Given the description of an element on the screen output the (x, y) to click on. 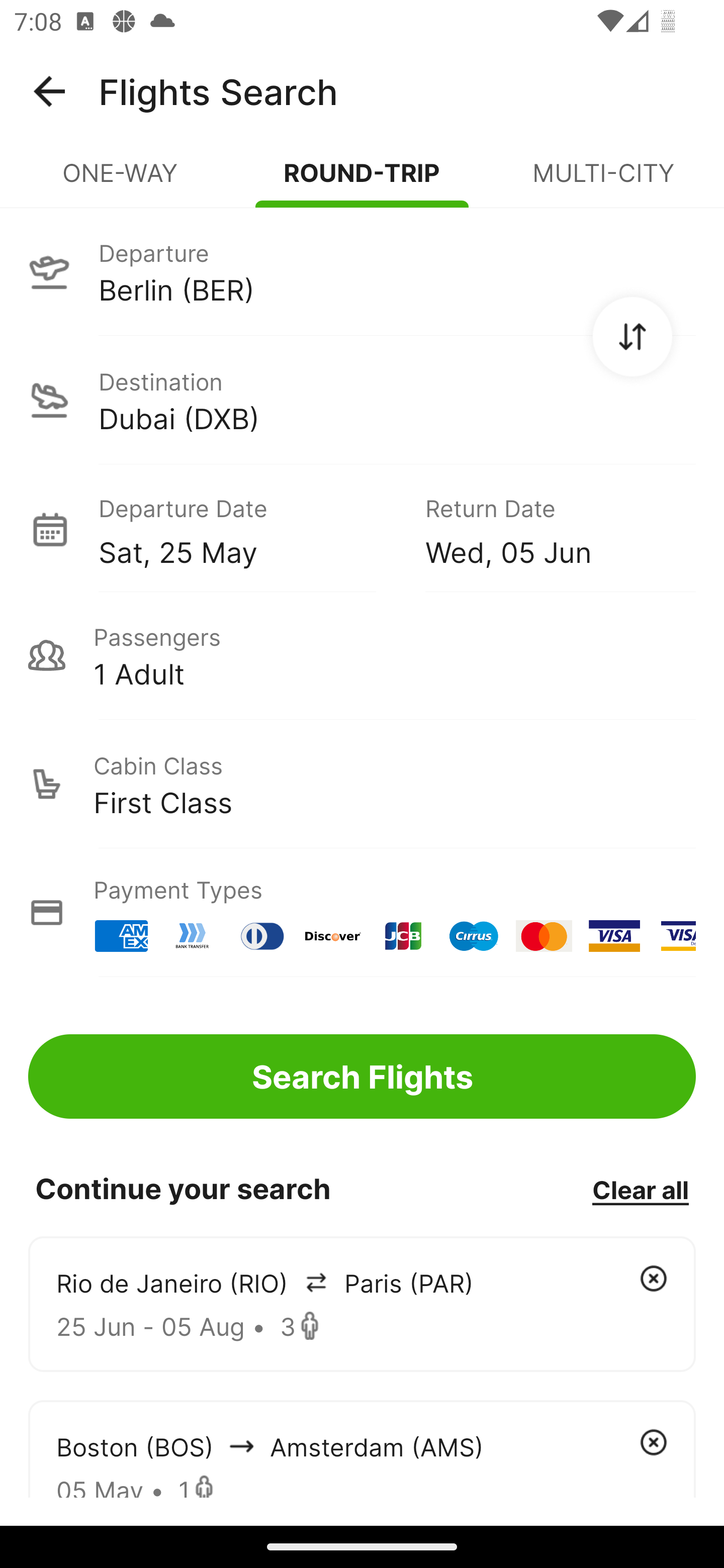
ONE-WAY (120, 180)
ROUND-TRIP (361, 180)
MULTI-CITY (603, 180)
Departure Berlin (BER) (362, 270)
Destination Dubai (DXB) (362, 400)
Departure Date Sat, 25 May (247, 528)
Return Date Wed, 05 Jun (546, 528)
Passengers 1 Adult (362, 655)
Cabin Class First Class (362, 783)
Payment Types (362, 912)
Search Flights (361, 1075)
Clear all (640, 1189)
